Given the description of an element on the screen output the (x, y) to click on. 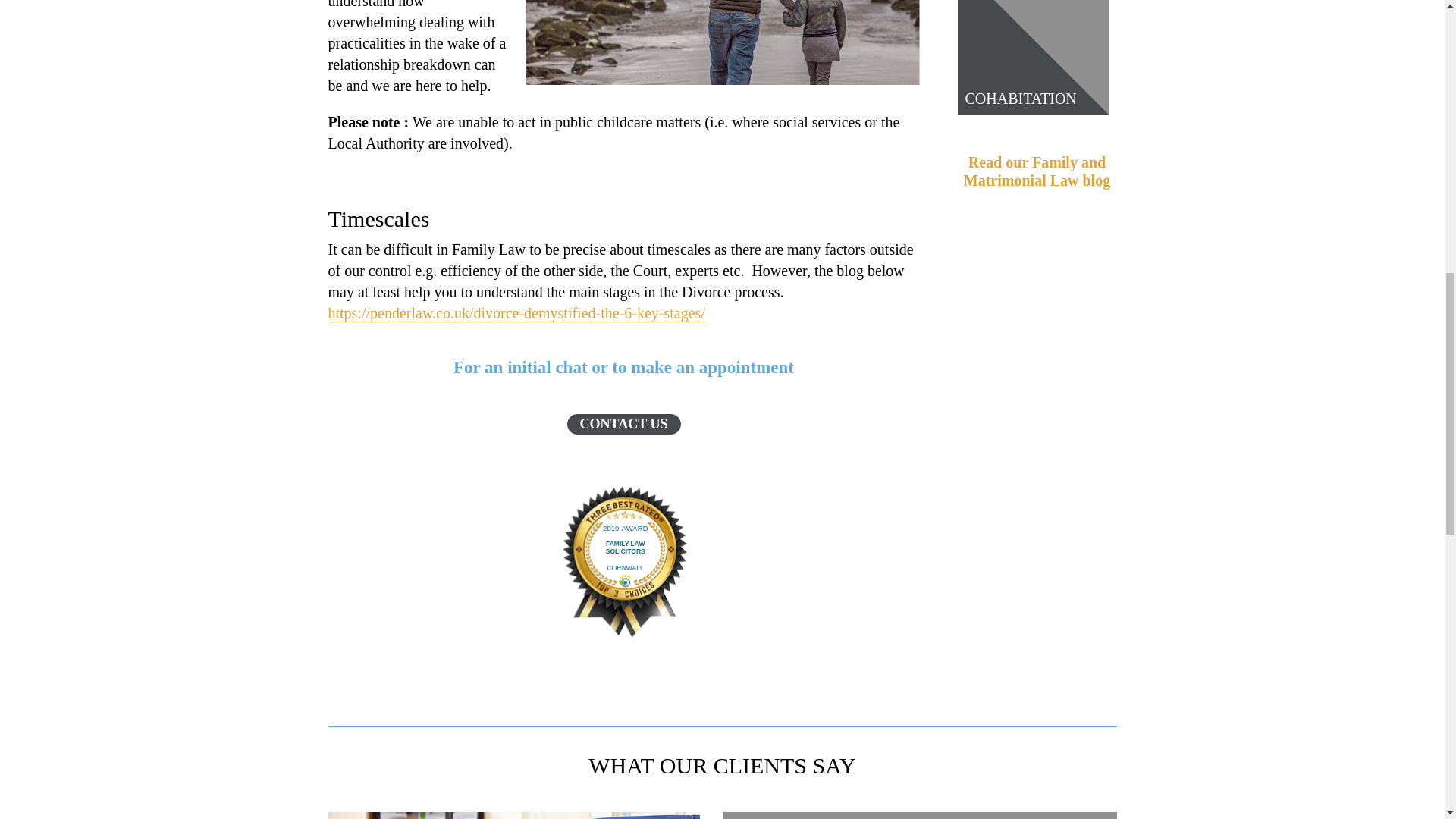
COHABITATION (1019, 98)
Read our Family and Matrimonial Law blog (1036, 171)
CONTACT US (623, 423)
Family and Matrimonial (721, 42)
